Given the description of an element on the screen output the (x, y) to click on. 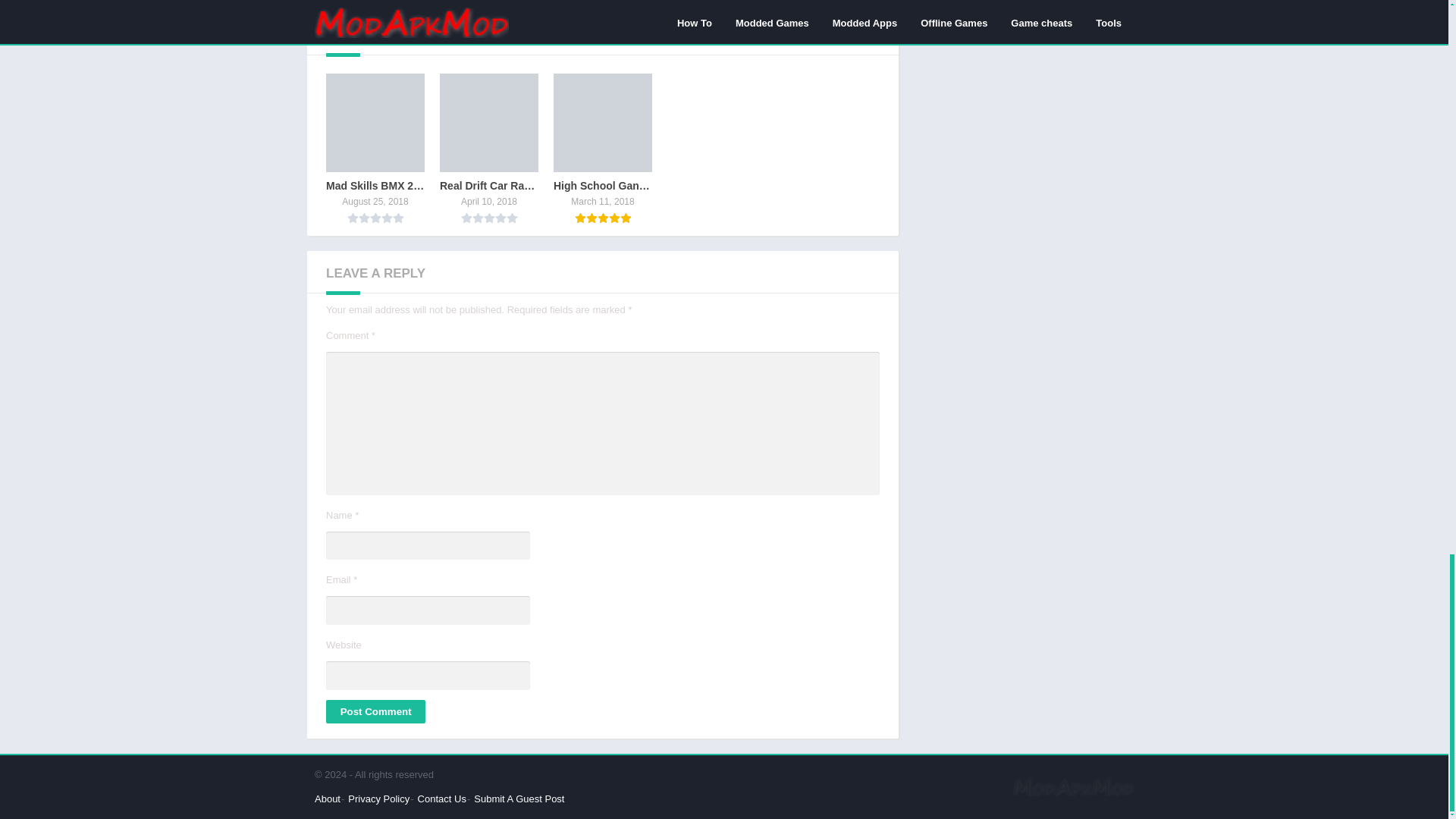
Mad Skills BMX 2 Mod Apk v1.1.4 For Android 3 (375, 122)
Post Comment (375, 711)
Post Comment (375, 711)
